Given the description of an element on the screen output the (x, y) to click on. 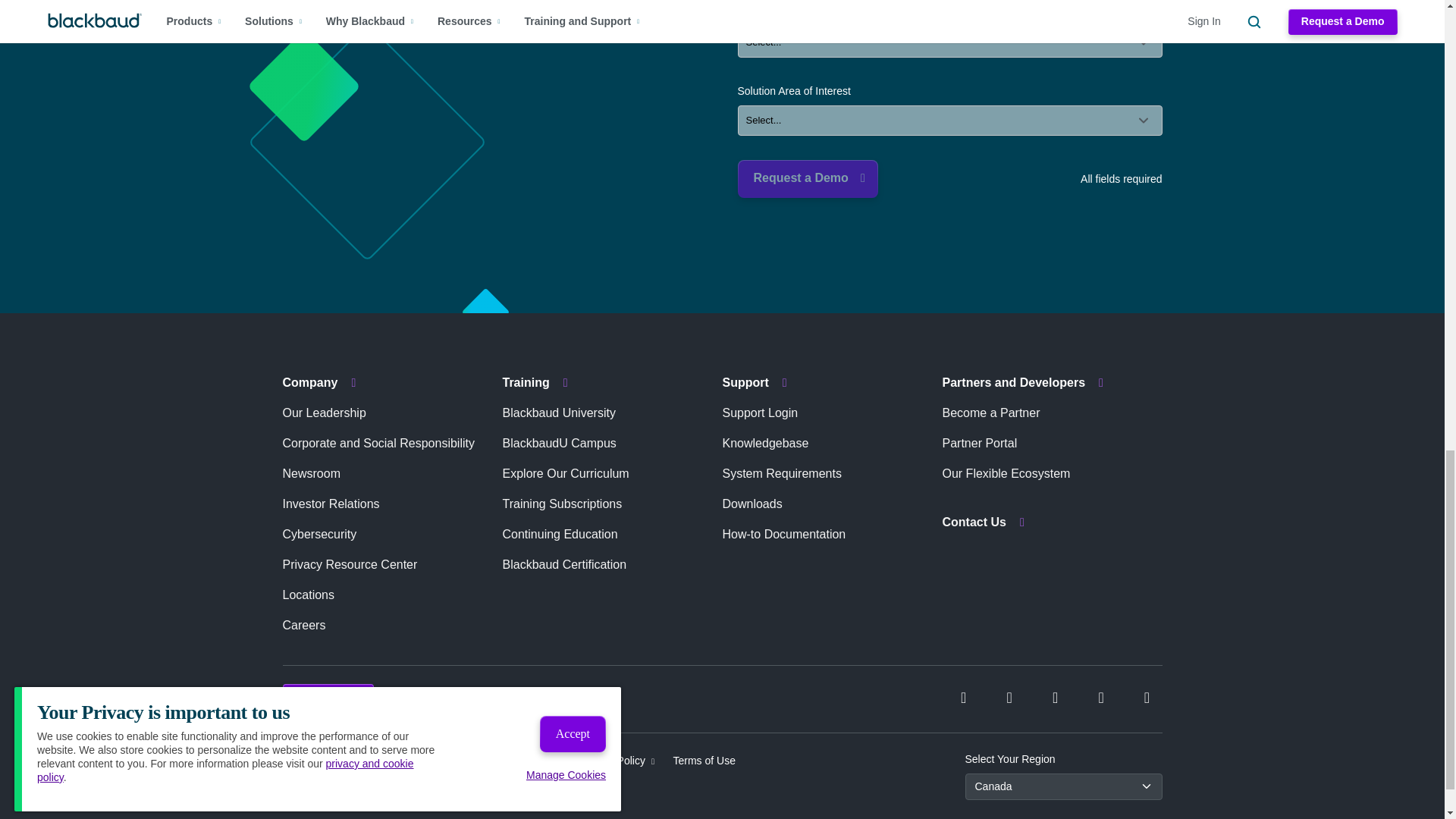
Country (948, 42)
